Given the description of an element on the screen output the (x, y) to click on. 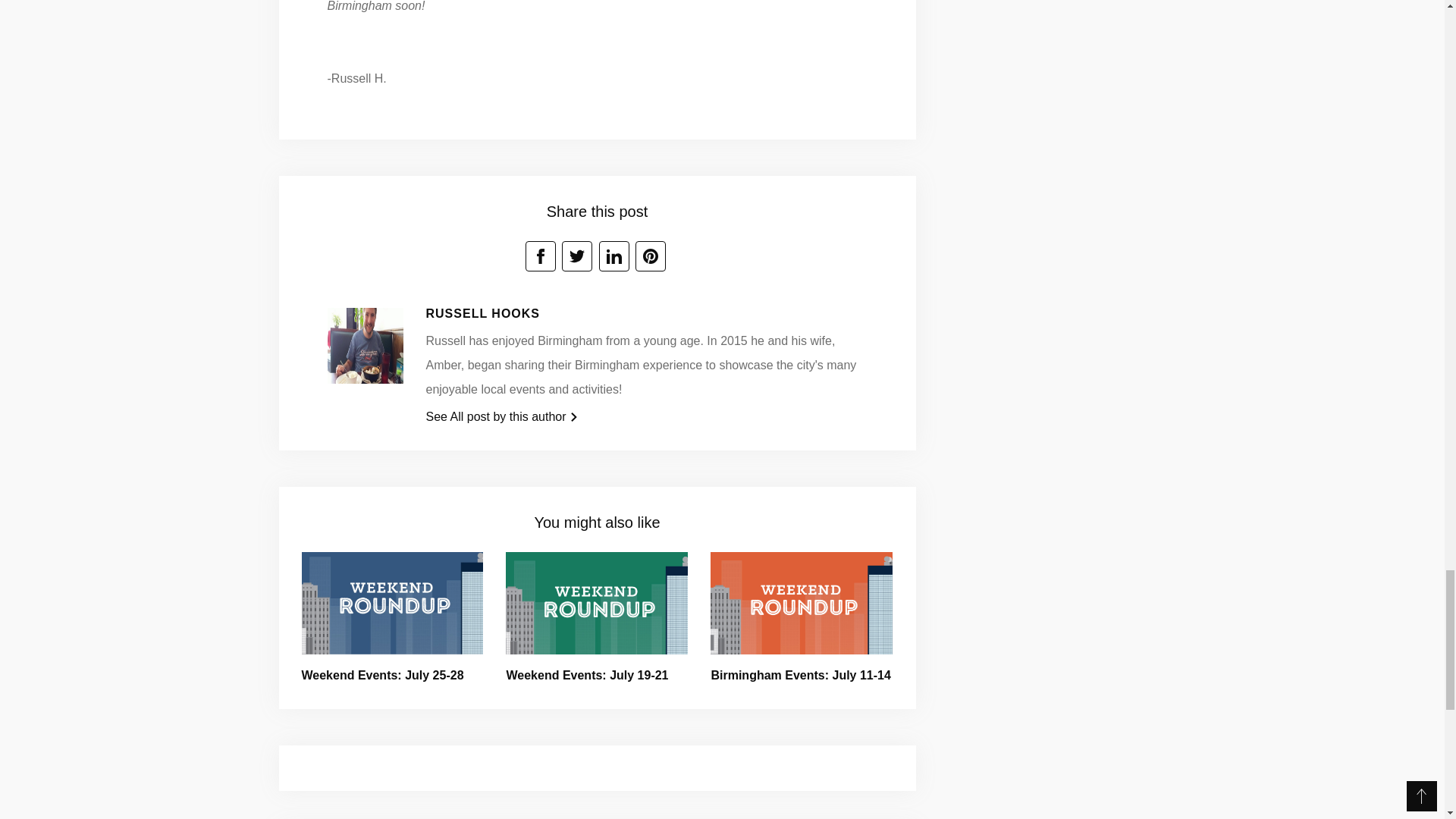
Weekend Events: July 25-28 (382, 675)
Share on Facebook (540, 255)
Weekend Events: July 19-21 (586, 675)
Birmingham Events: July 11-14 (799, 675)
Share on Twitter (577, 255)
Share on Linkedin (613, 255)
Russell Hooks  (365, 350)
See All post by this author (502, 416)
Share on Pinterest (649, 255)
RUSSELL HOOKS (483, 313)
